Given the description of an element on the screen output the (x, y) to click on. 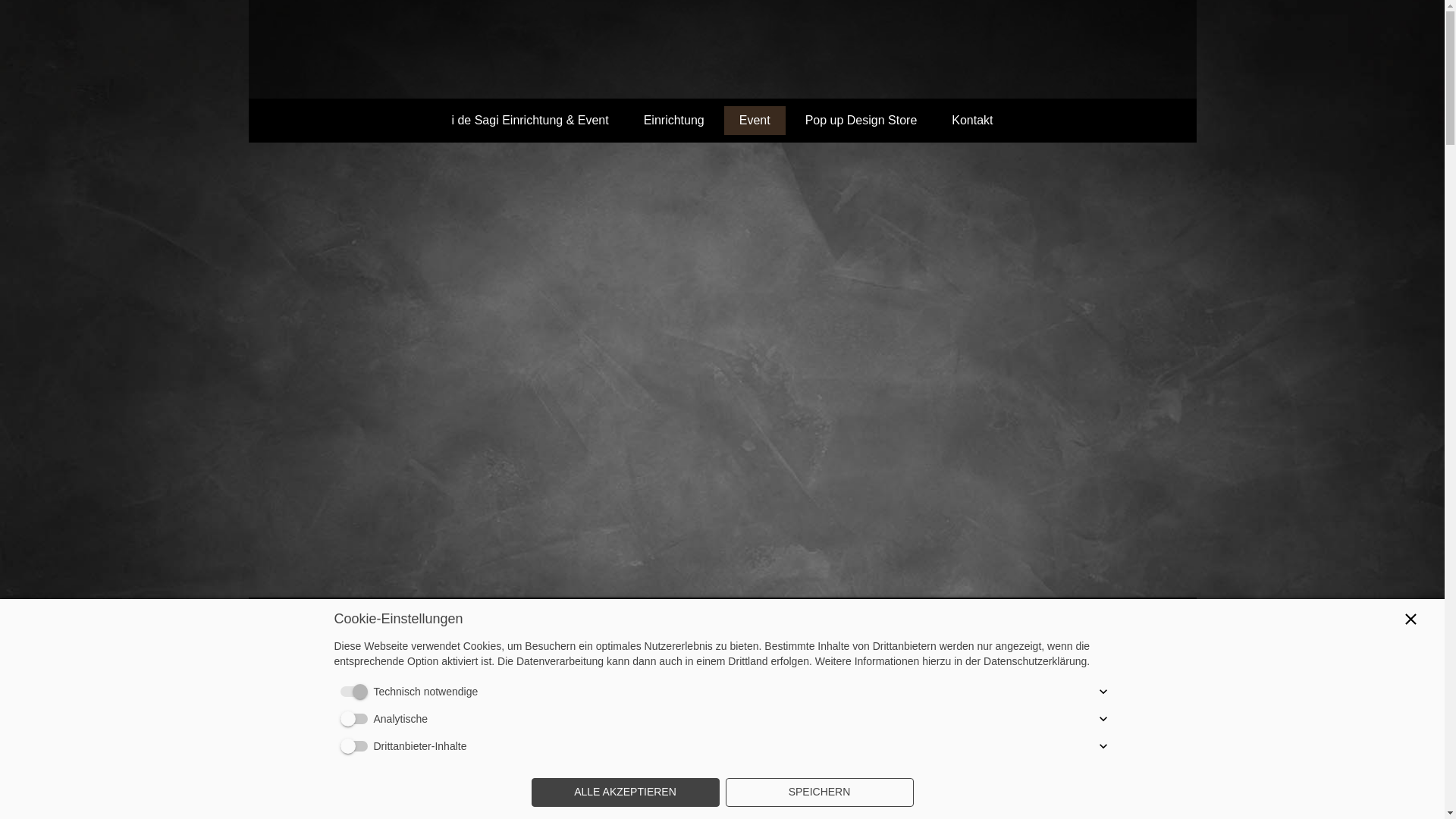
ALLE AKZEPTIEREN Element type: text (624, 792)
Kontakt Element type: text (971, 120)
Einrichtung Element type: text (673, 120)
SPEICHERN Element type: text (818, 792)
Event Element type: text (754, 120)
i de Sagi Einrichtung & Event Element type: text (529, 120)
Pop up Design Store Element type: text (861, 120)
